Given the description of an element on the screen output the (x, y) to click on. 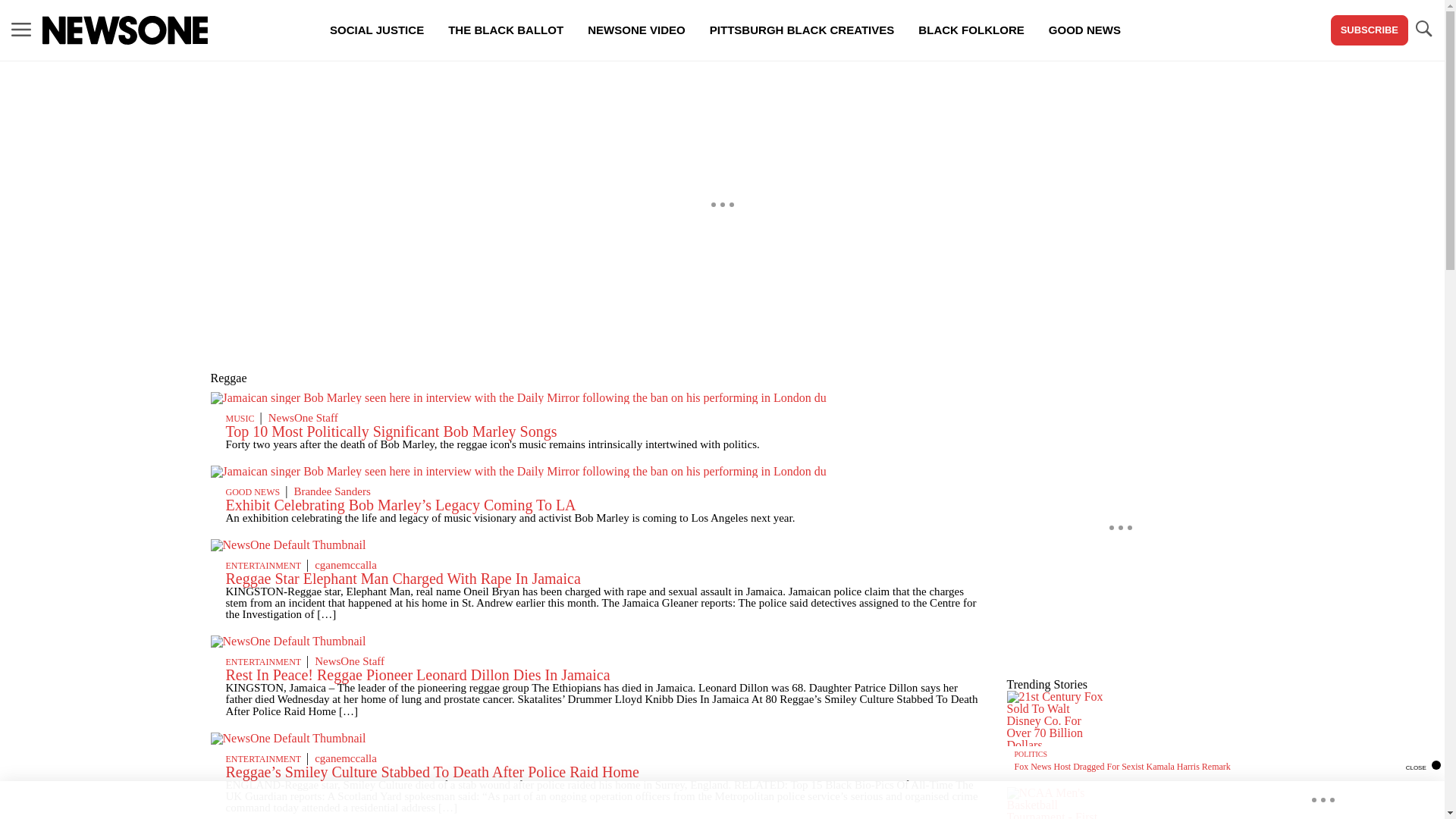
Top 10 Most Politically Significant Bob Marley Songs (391, 431)
GOOD NEWS (253, 491)
SUBSCRIBE (1368, 30)
GOOD NEWS (1084, 30)
ENTERTAINMENT (263, 661)
cganemccalla (345, 564)
Rest In Peace! Reggae Pioneer Leonard Dillon Dies In Jamaica (417, 674)
NewsOne Staff (349, 661)
NewsOne Staff (302, 417)
MENU (20, 29)
